Given the description of an element on the screen output the (x, y) to click on. 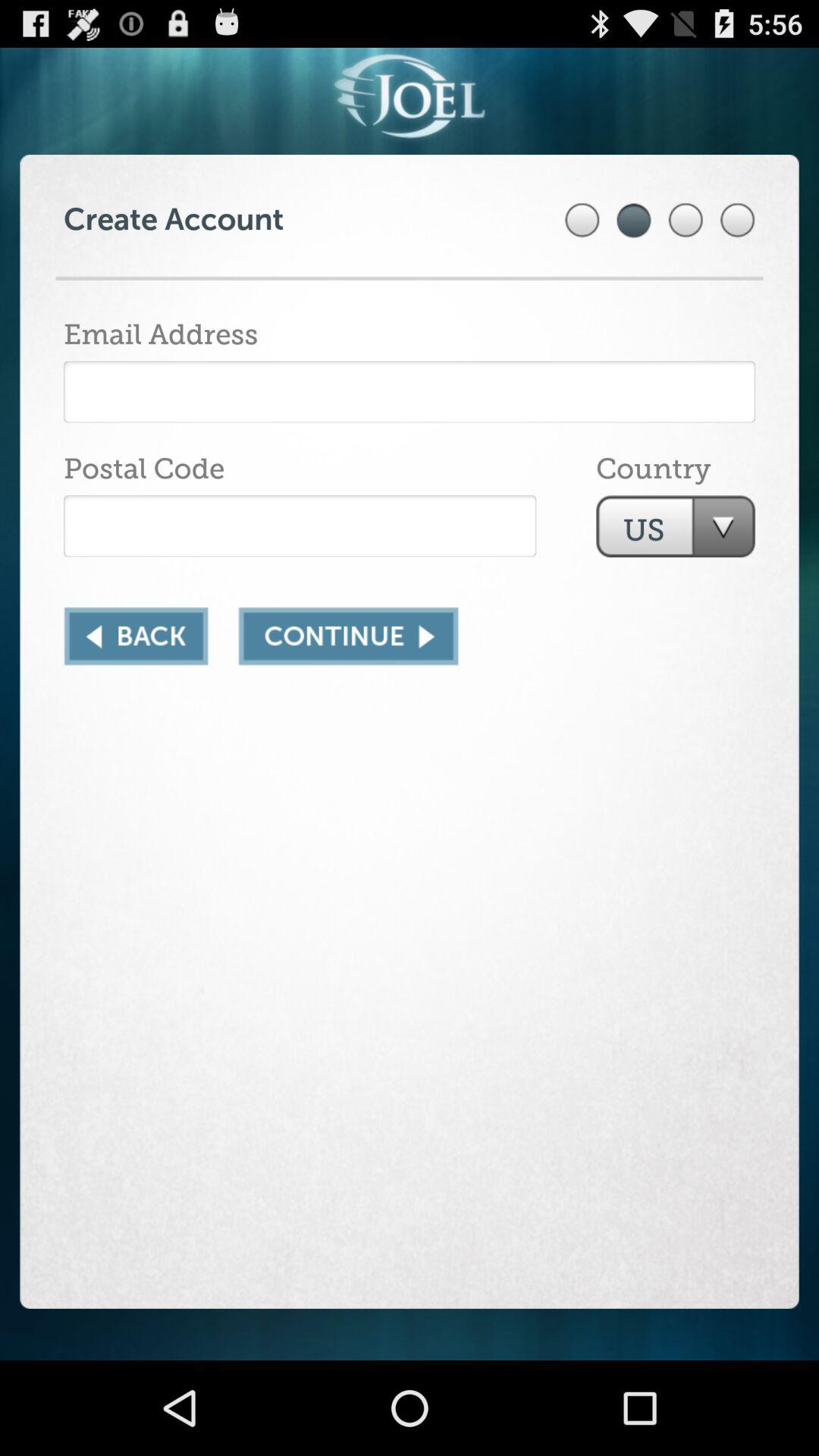
enter email (409, 391)
